Given the description of an element on the screen output the (x, y) to click on. 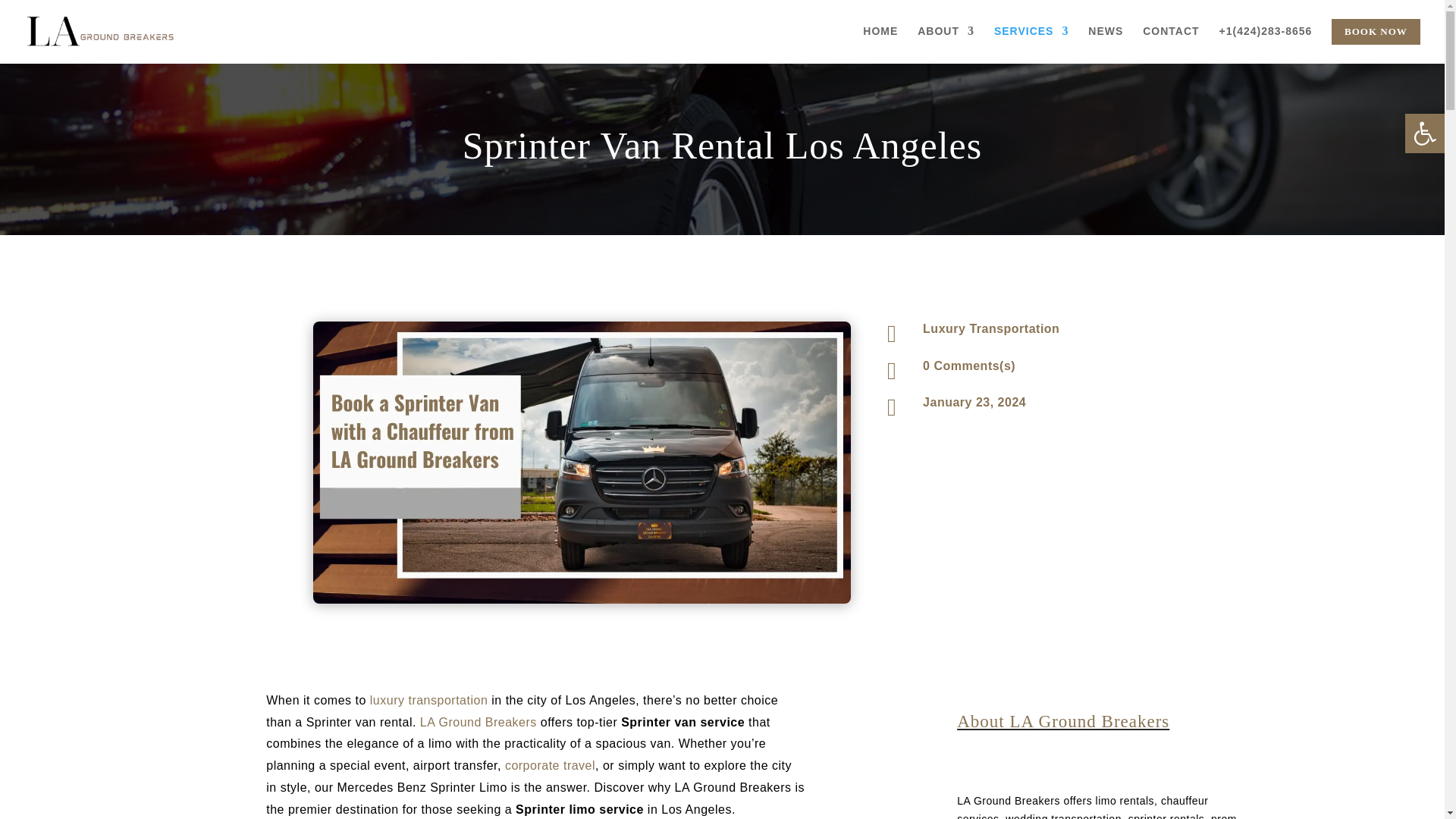
CONTACT (1170, 43)
BOOK NOW (1375, 40)
HOME (880, 43)
Accessibility Tools (1424, 133)
SERVICES (1031, 43)
NEWS (1104, 43)
ABOUT (945, 43)
